Given the description of an element on the screen output the (x, y) to click on. 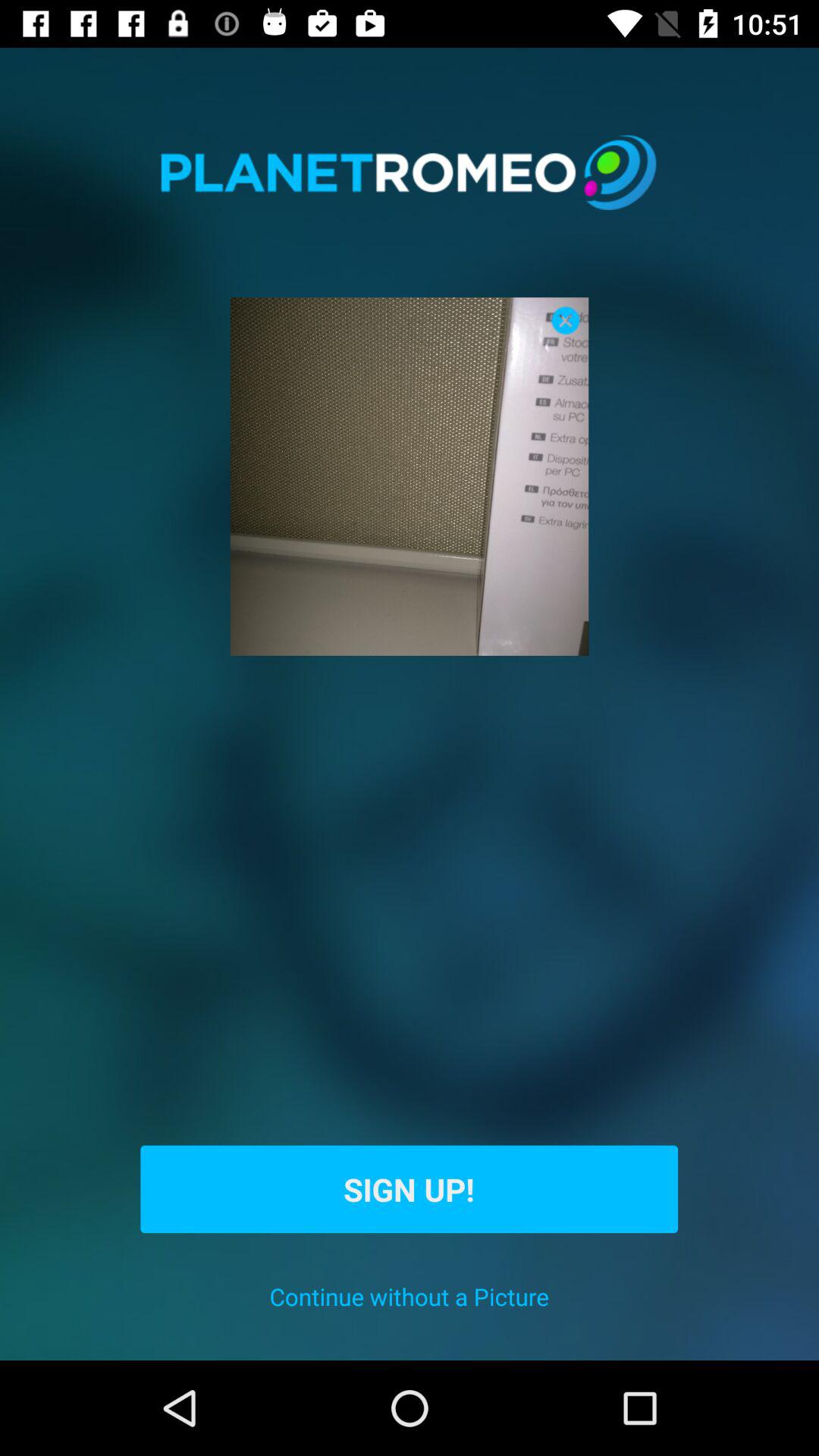
press the continue without a icon (408, 1296)
